Given the description of an element on the screen output the (x, y) to click on. 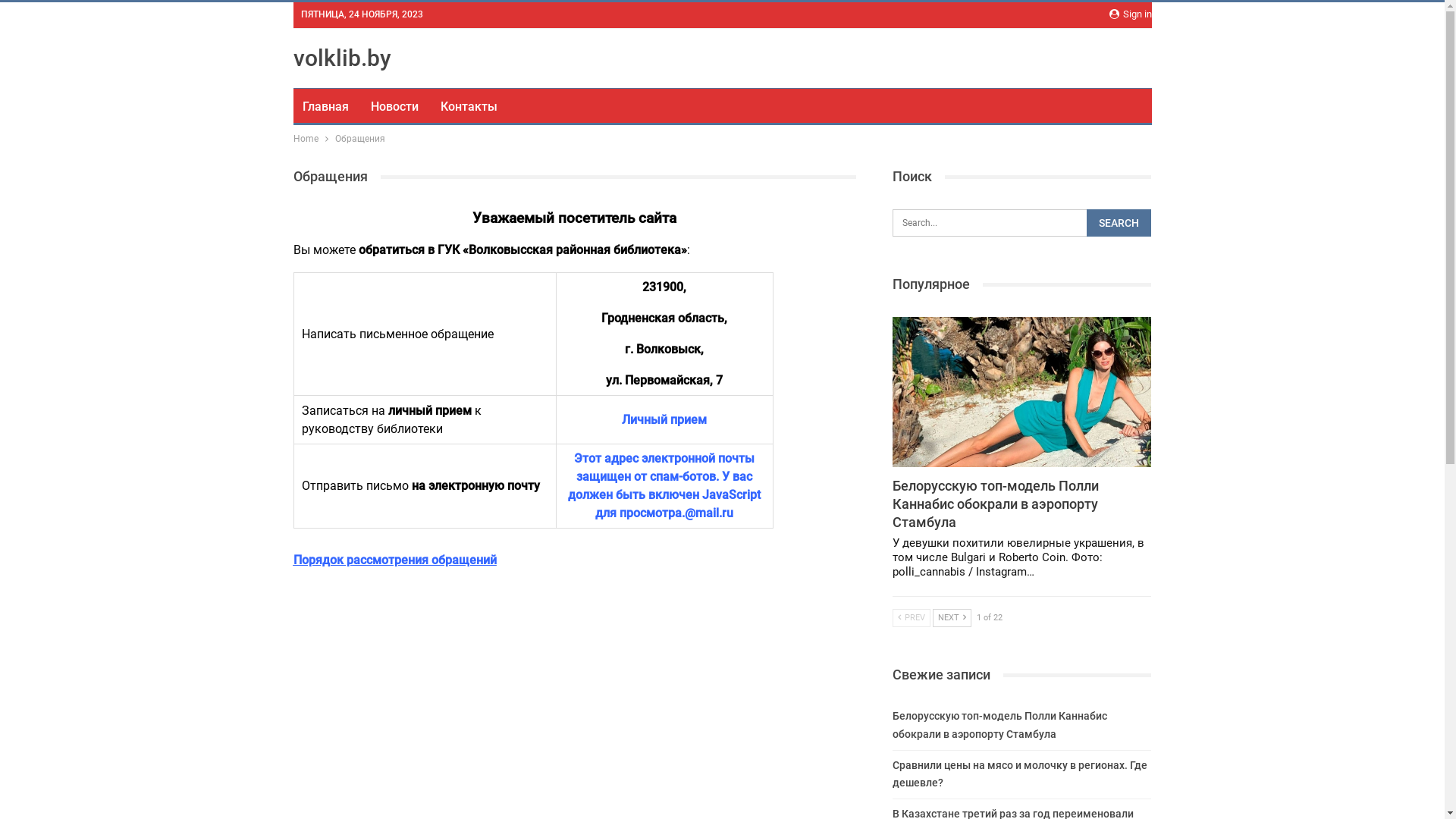
Home Element type: text (304, 138)
PREV Element type: text (911, 617)
Search Element type: text (1118, 222)
NEXT Element type: text (951, 617)
volklib.by Element type: text (341, 57)
Sign in Element type: text (1129, 14)
Search for: Element type: hover (1021, 222)
